Given the description of an element on the screen output the (x, y) to click on. 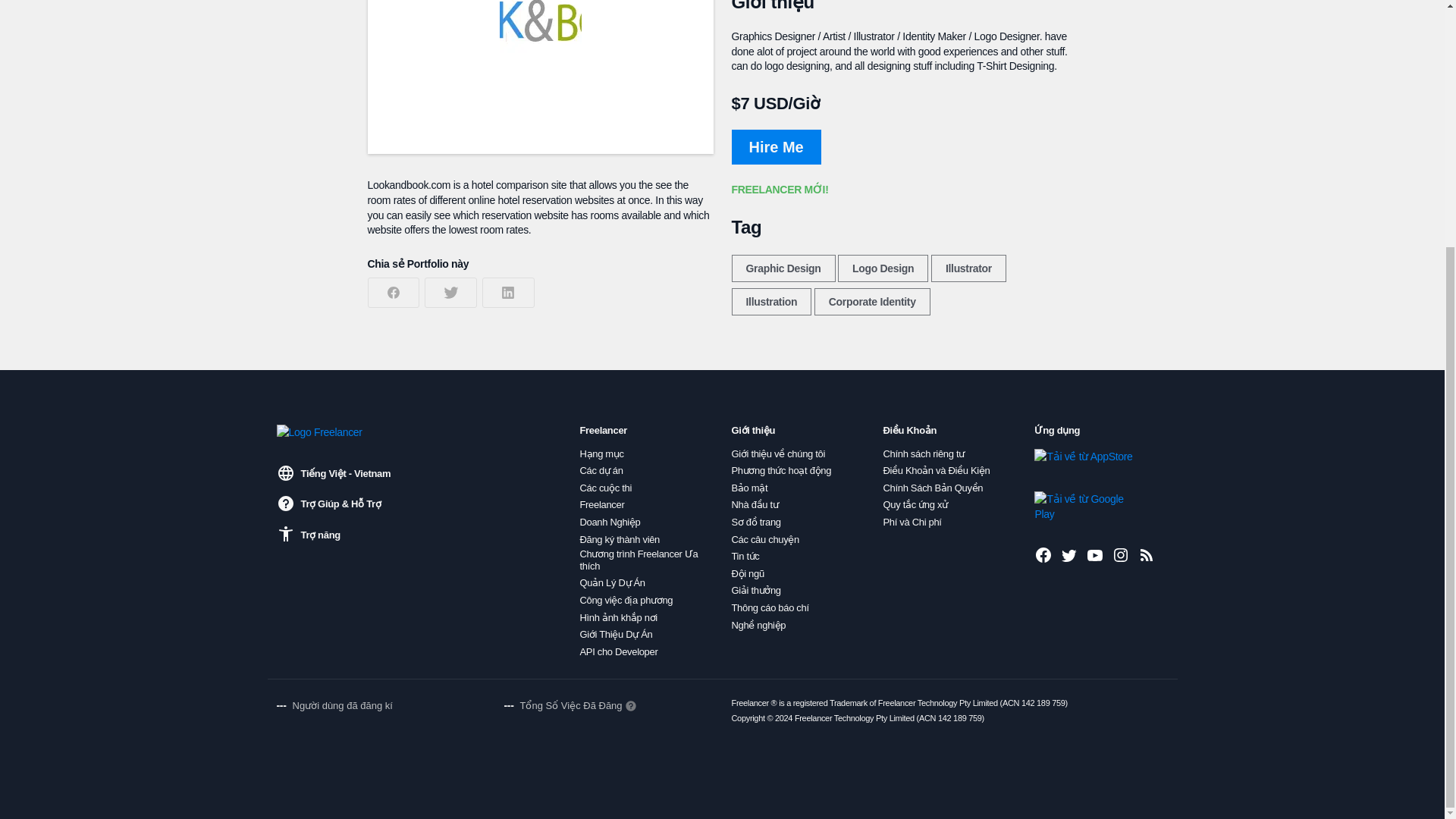
Illustrator (968, 267)
Graphic Design (782, 267)
Corporate Identity (871, 301)
Hire Me (775, 146)
API cho Developer (618, 652)
Logo Design (883, 267)
Freelancer (601, 504)
Illustration (770, 301)
